Given the description of an element on the screen output the (x, y) to click on. 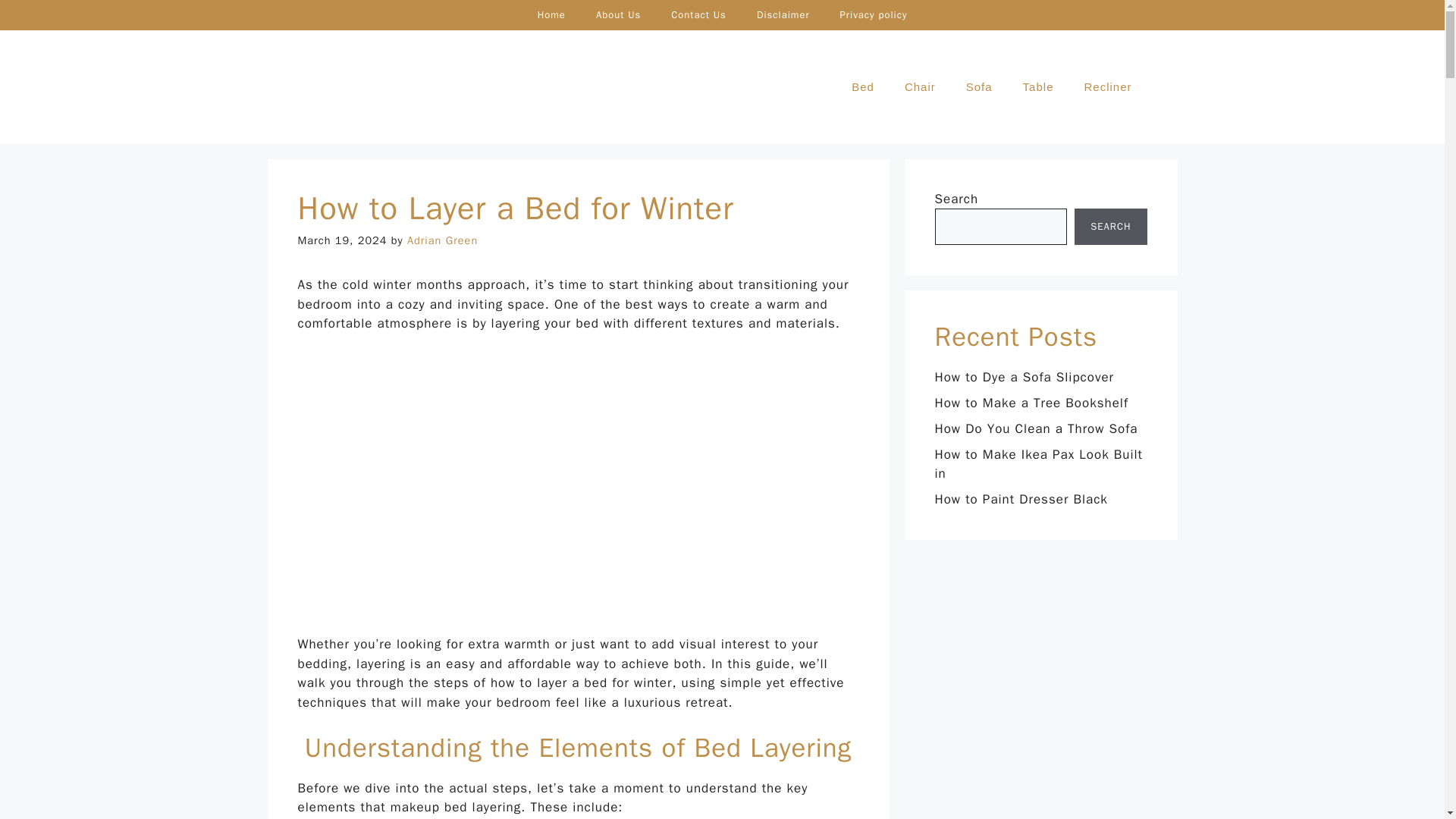
Table (1037, 86)
View all posts by Adrian Green (442, 240)
How Do You Clean a Throw Sofa (1035, 428)
Sofa (978, 86)
How to Dye a Sofa Slipcover (1023, 376)
Recliner (1107, 86)
How to Make a Tree Bookshelf (1031, 402)
SEARCH (1110, 226)
Adrian Green (442, 240)
Home (551, 15)
